Given the description of an element on the screen output the (x, y) to click on. 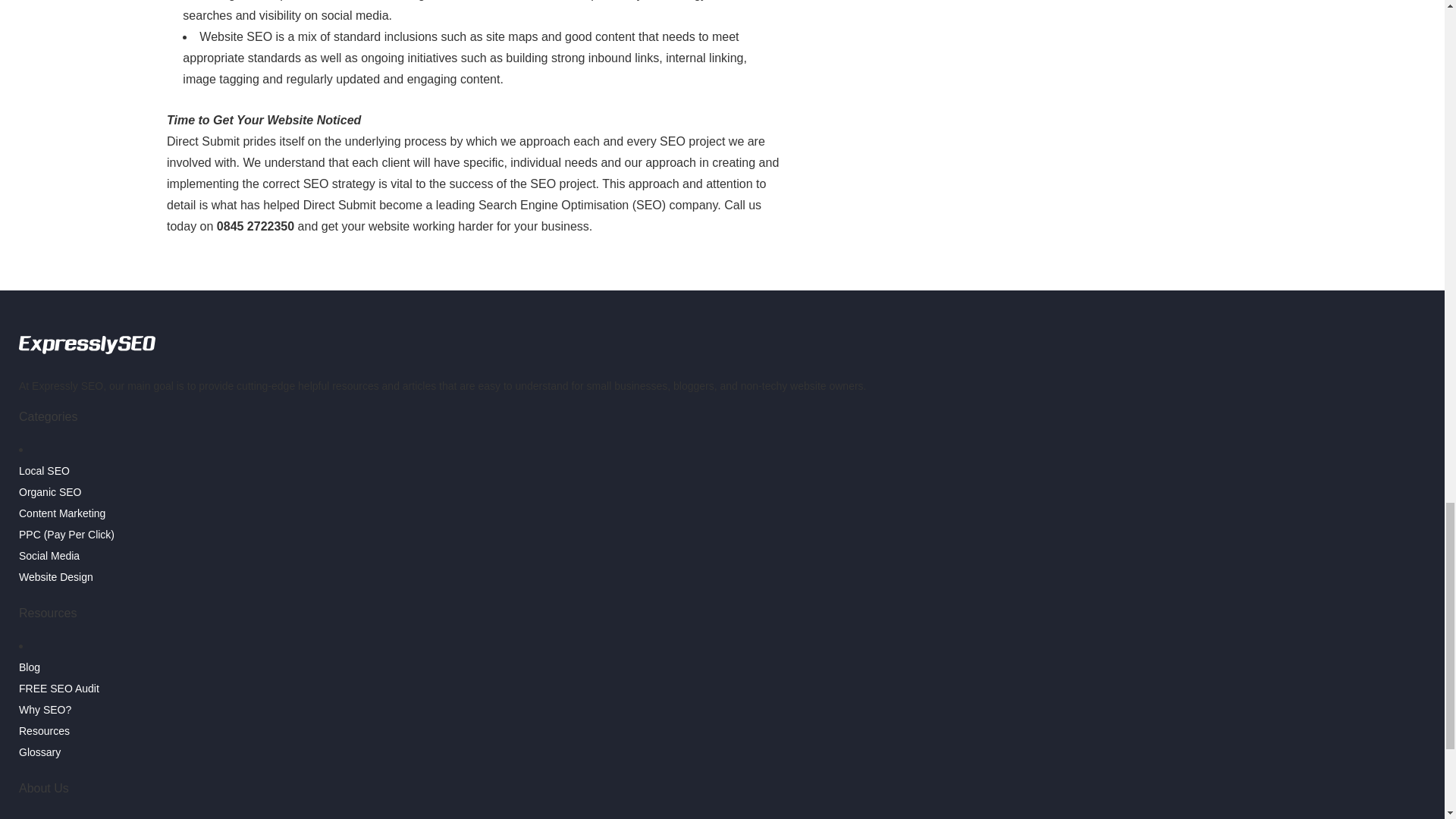
Blog (29, 666)
Why SEO? (44, 709)
Social Media (49, 555)
Website Design (55, 576)
FREE SEO Audit (58, 688)
Expressly SEO (86, 355)
Organic SEO (49, 491)
Glossary (39, 752)
Resources (43, 730)
Content Marketing (61, 512)
Local SEO (43, 470)
